Given the description of an element on the screen output the (x, y) to click on. 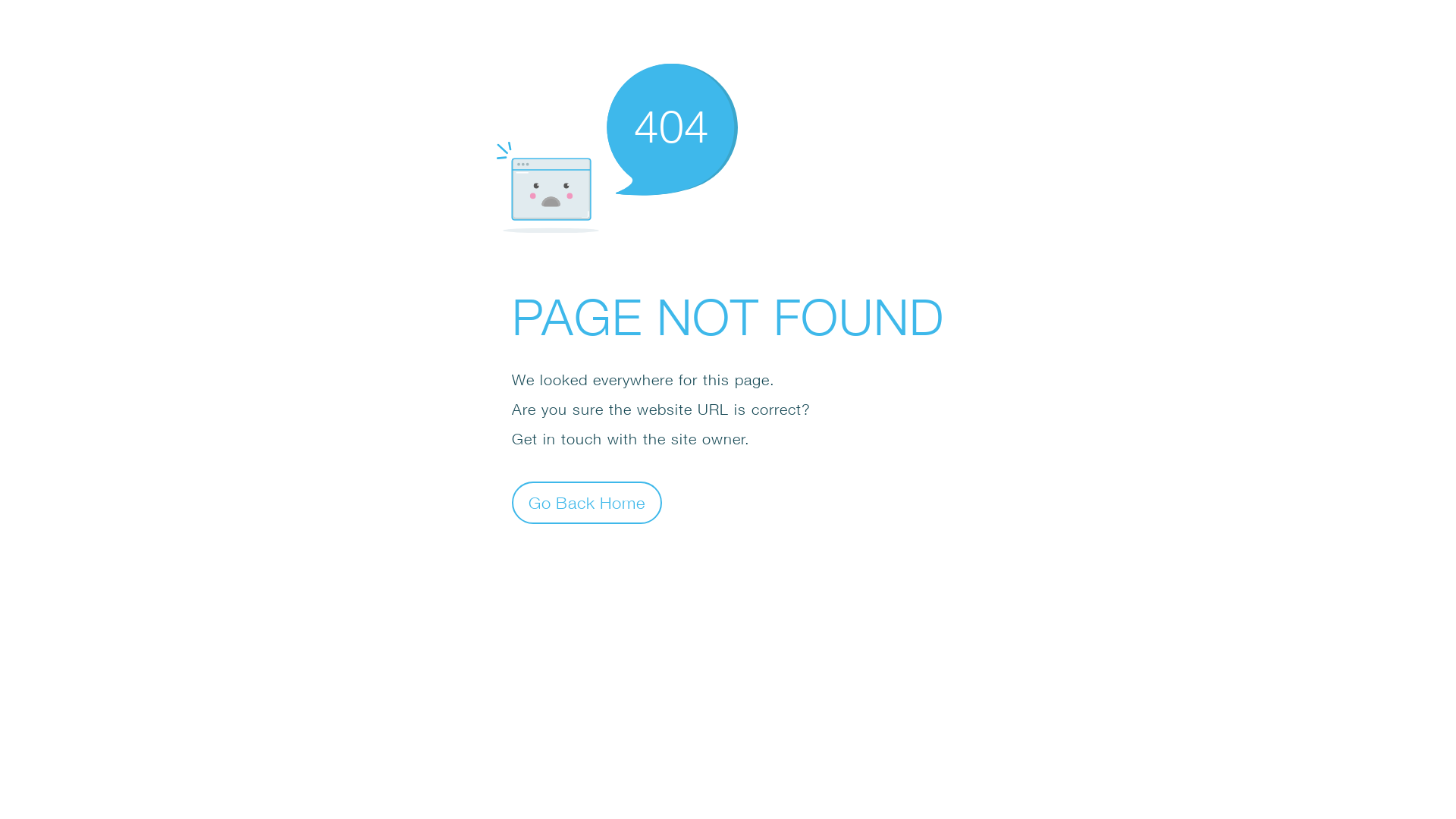
Go Back Home Element type: text (586, 502)
